Given the description of an element on the screen output the (x, y) to click on. 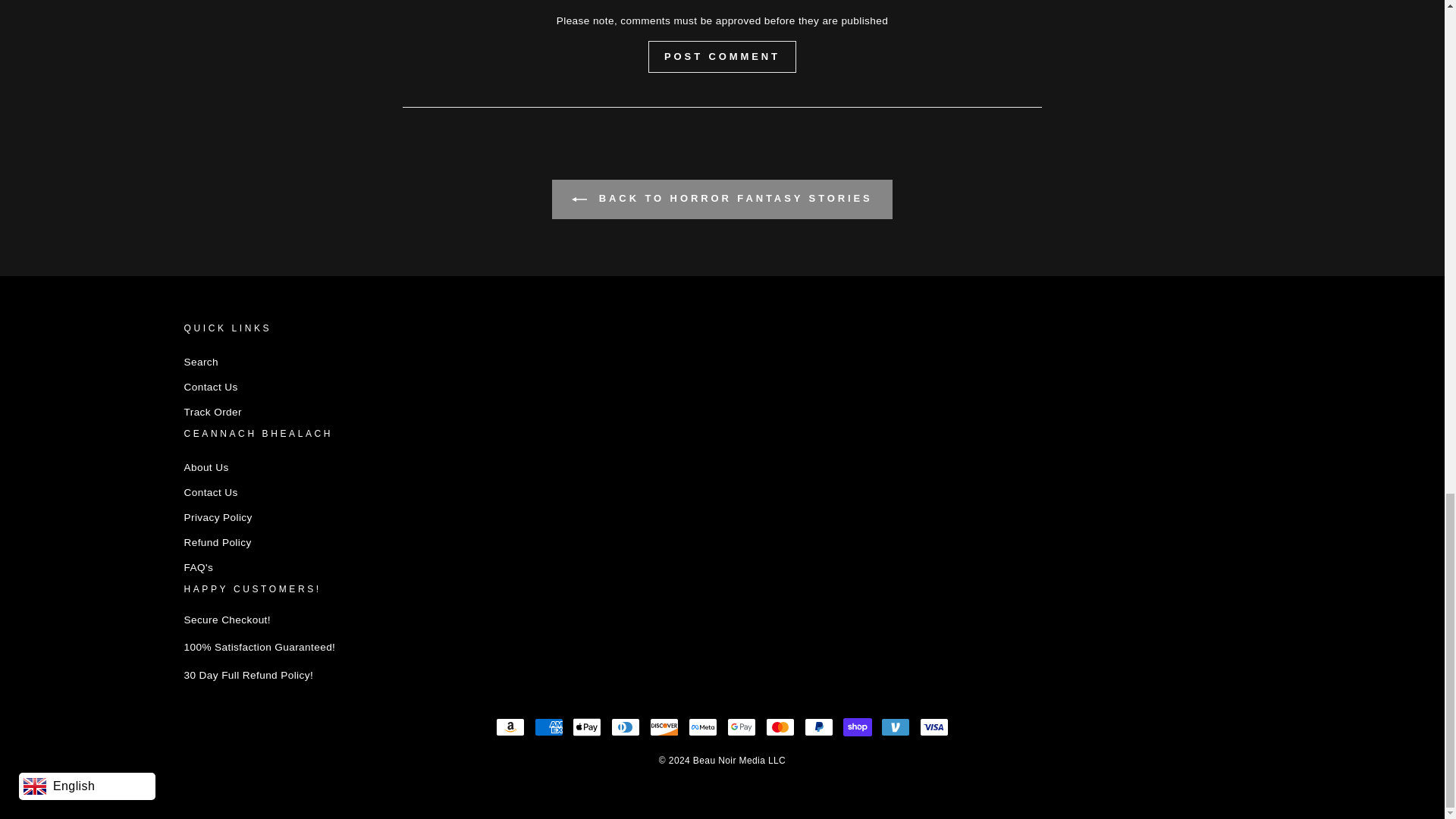
Contact Us (210, 492)
American Express (548, 727)
Search (199, 362)
Google Pay (740, 727)
Venmo (895, 727)
Track Order (212, 412)
Apple Pay (586, 727)
Amazon (510, 727)
Mastercard (779, 727)
Diners Club (625, 727)
